Given the description of an element on the screen output the (x, y) to click on. 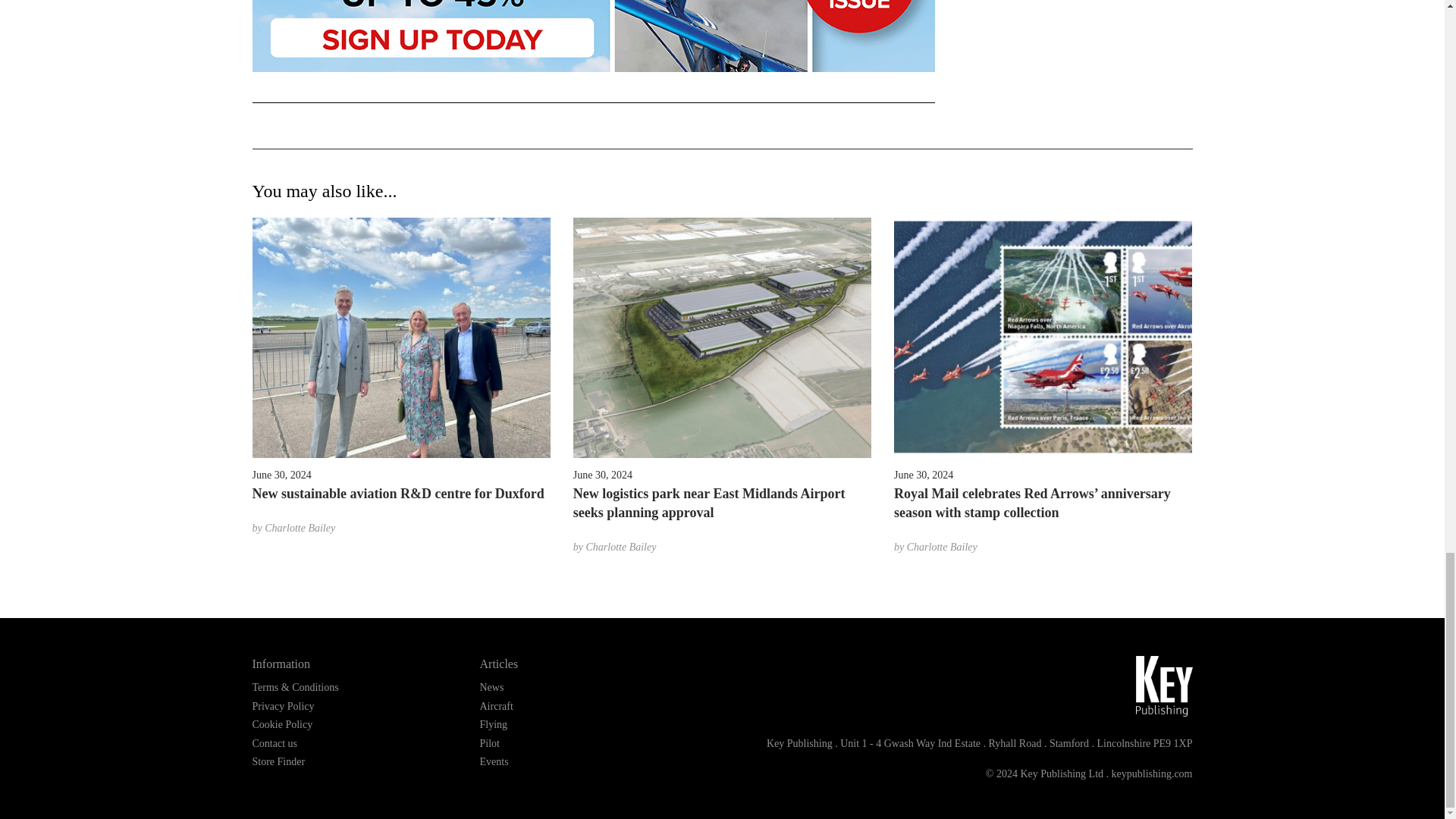
Aircraft (495, 706)
Store Finder (277, 761)
Contact us (274, 743)
Privacy Policy (282, 706)
News (491, 686)
Cookie Policy (282, 724)
